Given the description of an element on the screen output the (x, y) to click on. 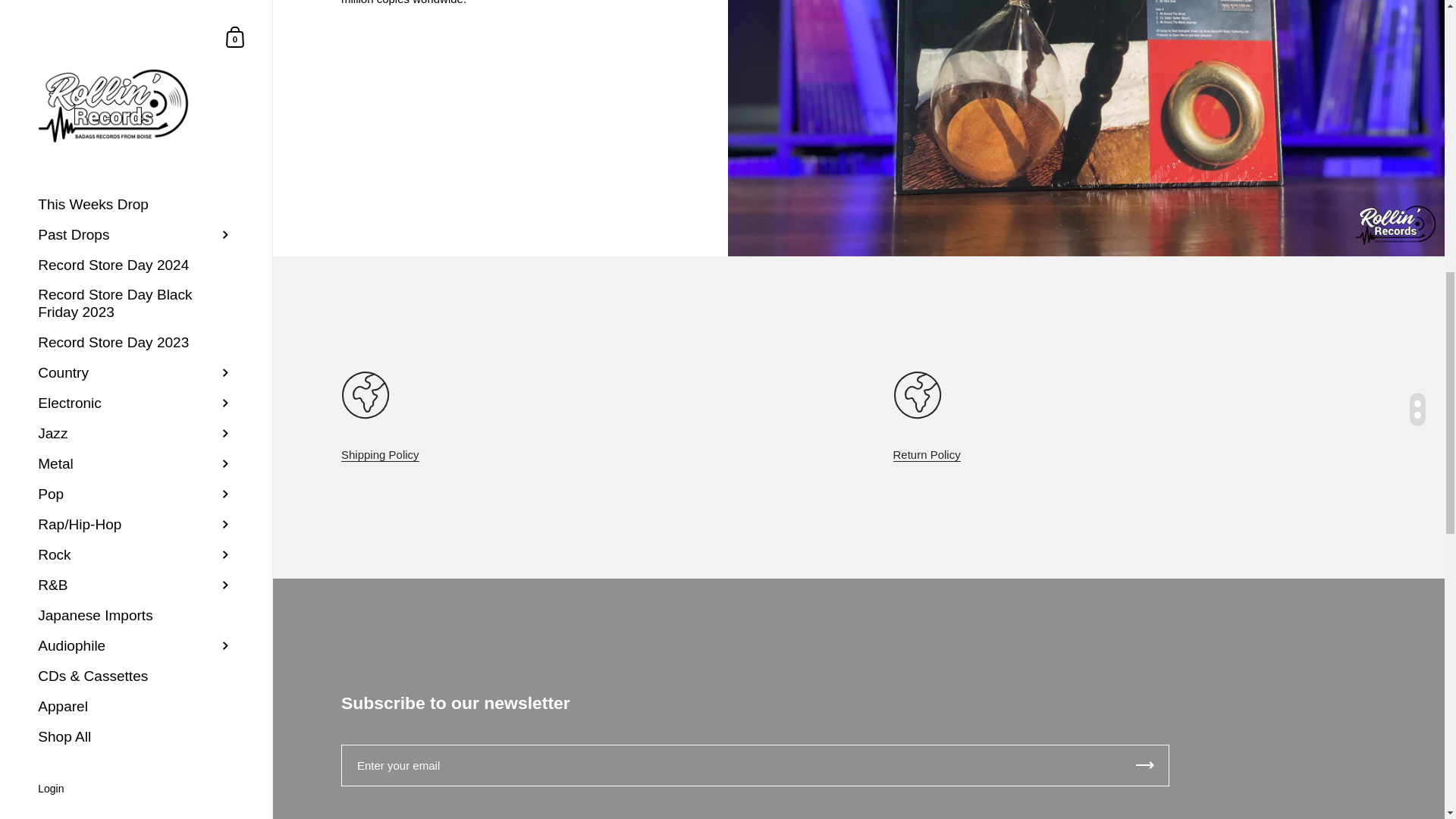
Refund Policy (926, 454)
Shipping Policy (379, 454)
